Given the description of an element on the screen output the (x, y) to click on. 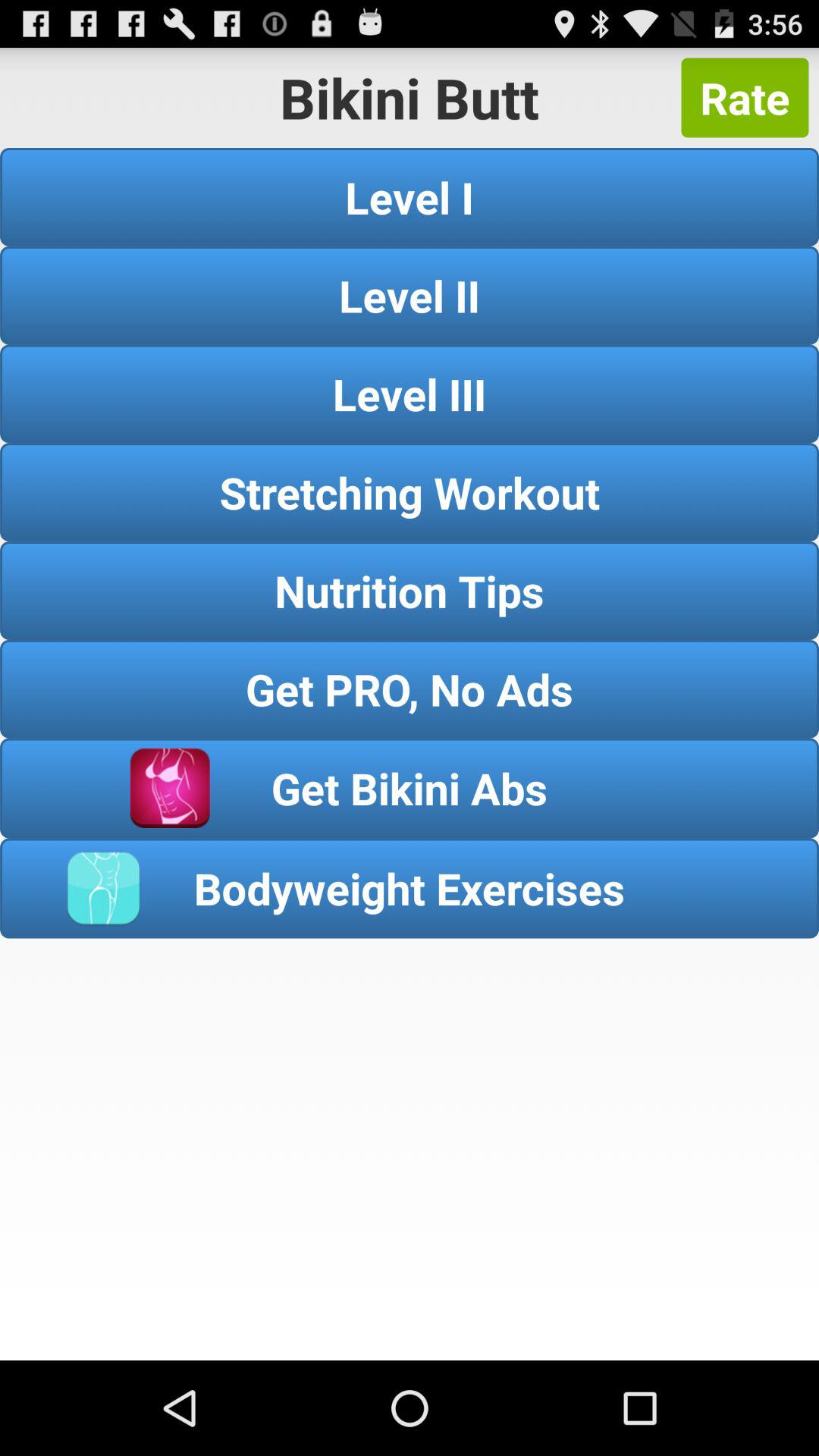
click item below rate icon (409, 196)
